Given the description of an element on the screen output the (x, y) to click on. 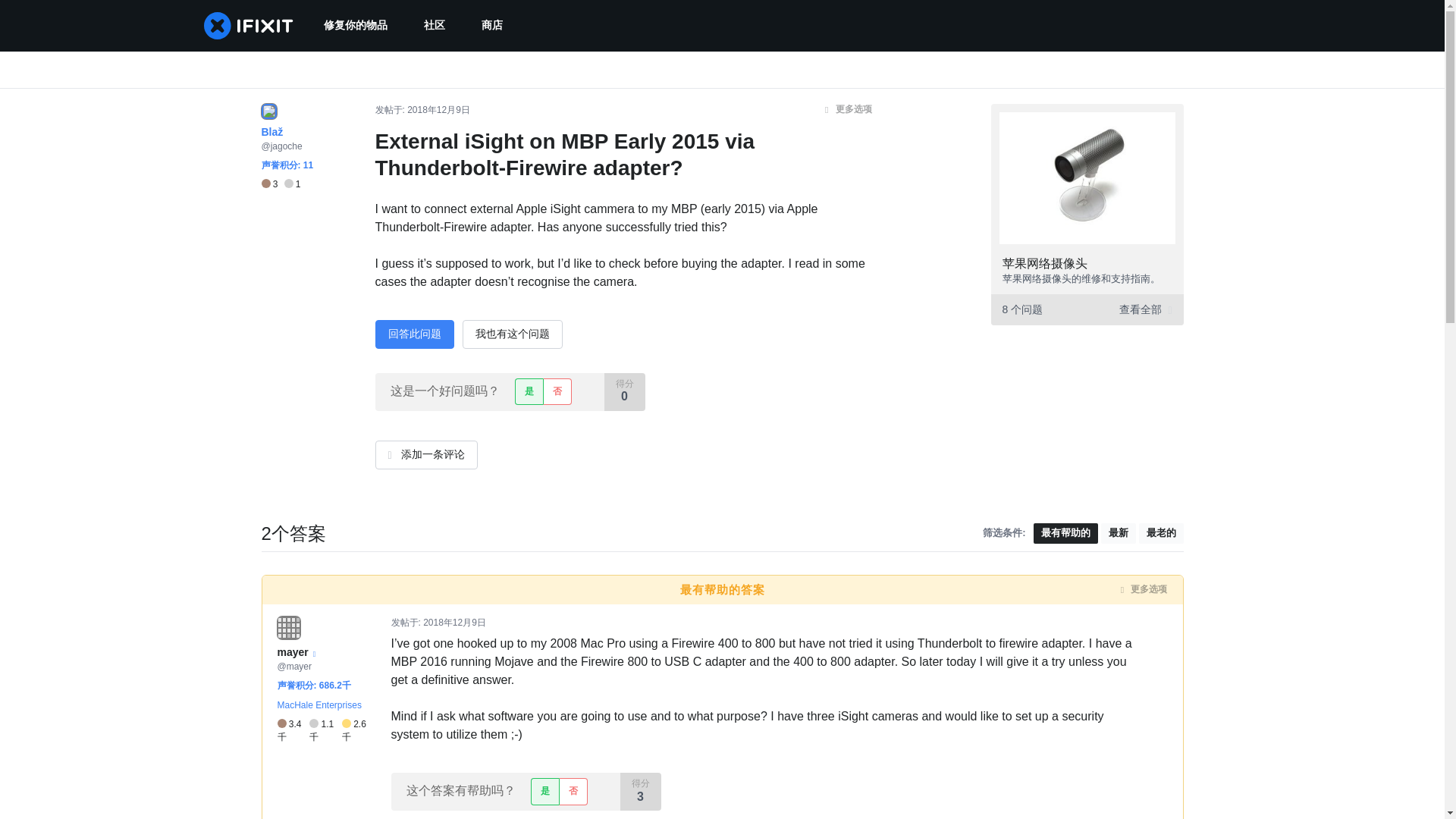
MacHale Enterprises (319, 704)
Sun, 09 Dec 2018 08:08:53 -0700 (438, 109)
Sun, 09 Dec 2018 08:19:11 -0700 (454, 622)
3 1 (279, 184)
